Given the description of an element on the screen output the (x, y) to click on. 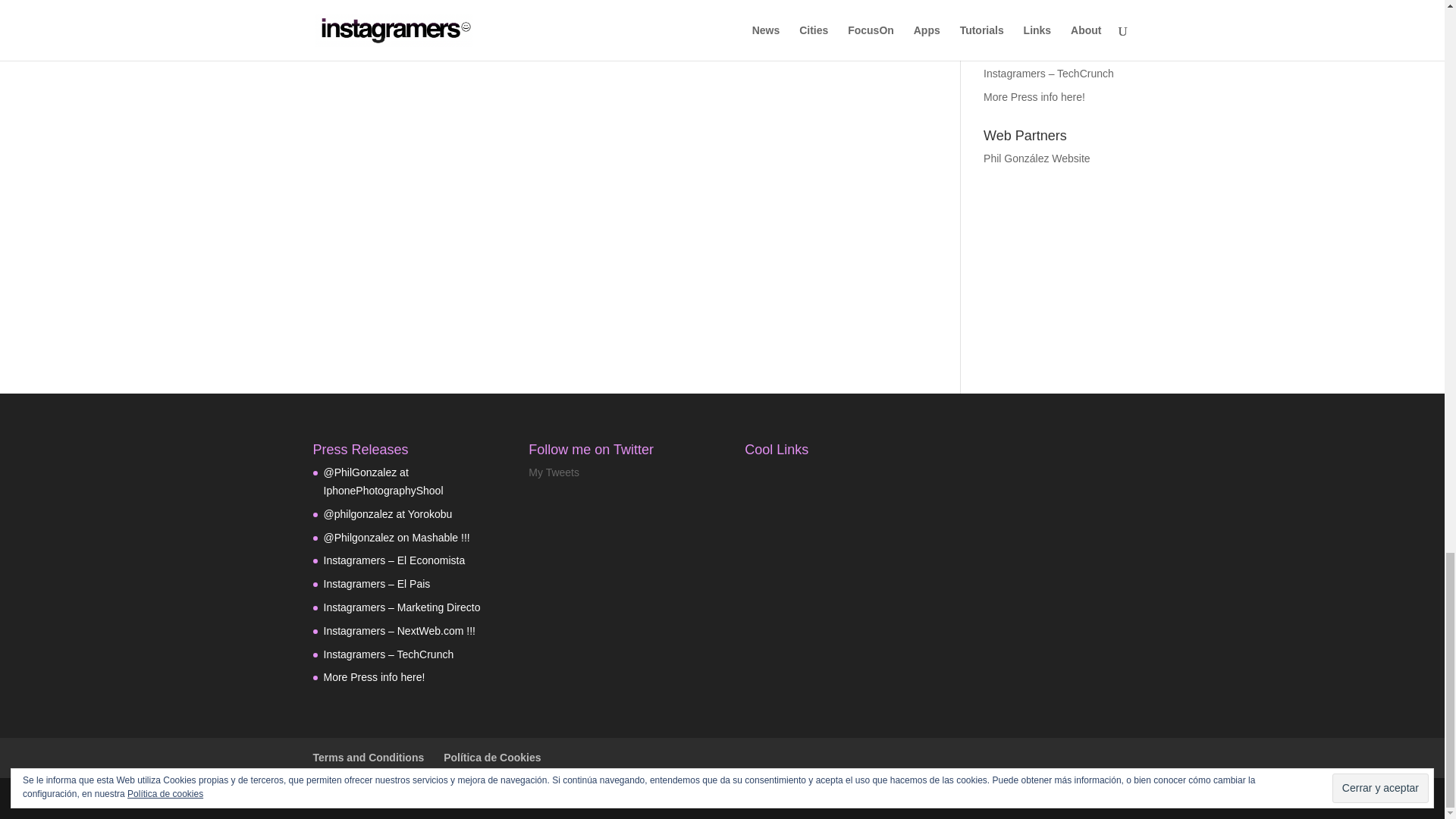
Instagramers Marketing directo (1043, 7)
